Given the description of an element on the screen output the (x, y) to click on. 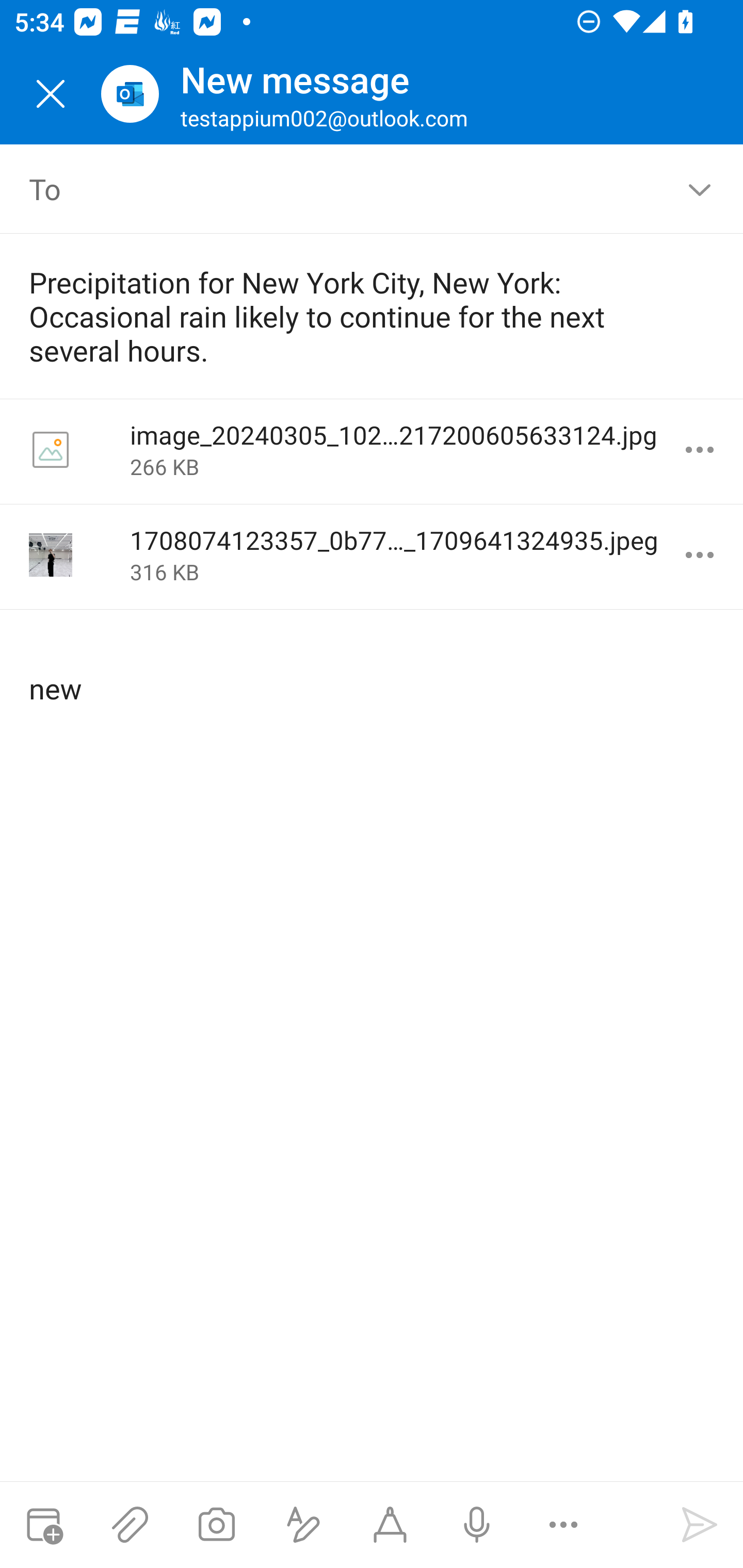
Close (50, 93)
More options (699, 449)
More options (699, 554)

new (372, 671)
Attach meeting (43, 1524)
Attach files (129, 1524)
Take a photo (216, 1524)
Show formatting options (303, 1524)
Start Ink compose (389, 1524)
Dictation (476, 1524)
More options (563, 1524)
Send (699, 1524)
